Given the description of an element on the screen output the (x, y) to click on. 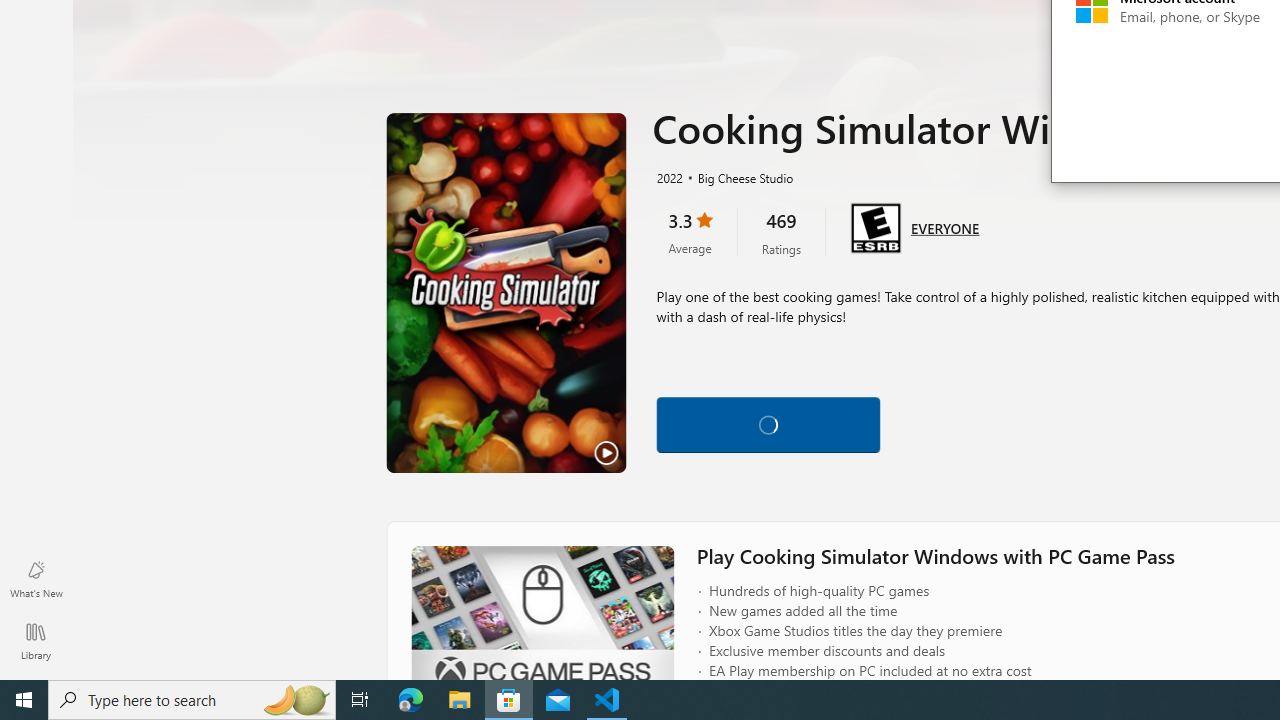
Task View (359, 699)
Search highlights icon opens search home window (295, 699)
Play Trailer (505, 293)
Microsoft Edge (411, 699)
AutomationID: Button (767, 424)
3.3 stars. Click to skip to ratings and reviews (689, 232)
Big Cheese Studio (737, 177)
AutomationID: LottiePlayer (767, 424)
Start (24, 699)
File Explorer (460, 699)
Type here to search (191, 699)
Visual Studio Code - 1 running window (607, 699)
